Given the description of an element on the screen output the (x, y) to click on. 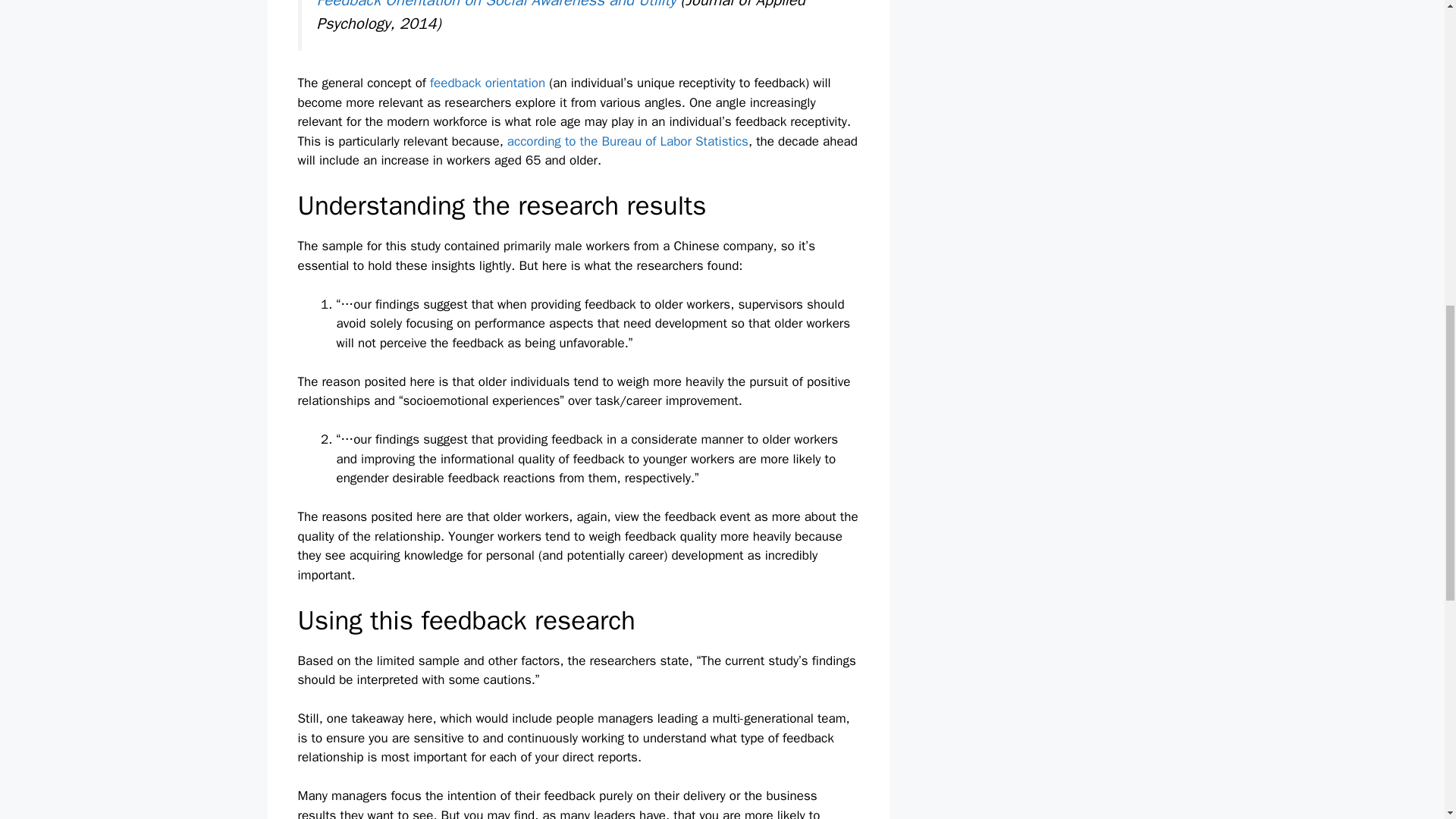
feedback orientation (486, 82)
Scroll back to top (1406, 720)
according to the Bureau of Labor Statistics (627, 141)
